Given the description of an element on the screen output the (x, y) to click on. 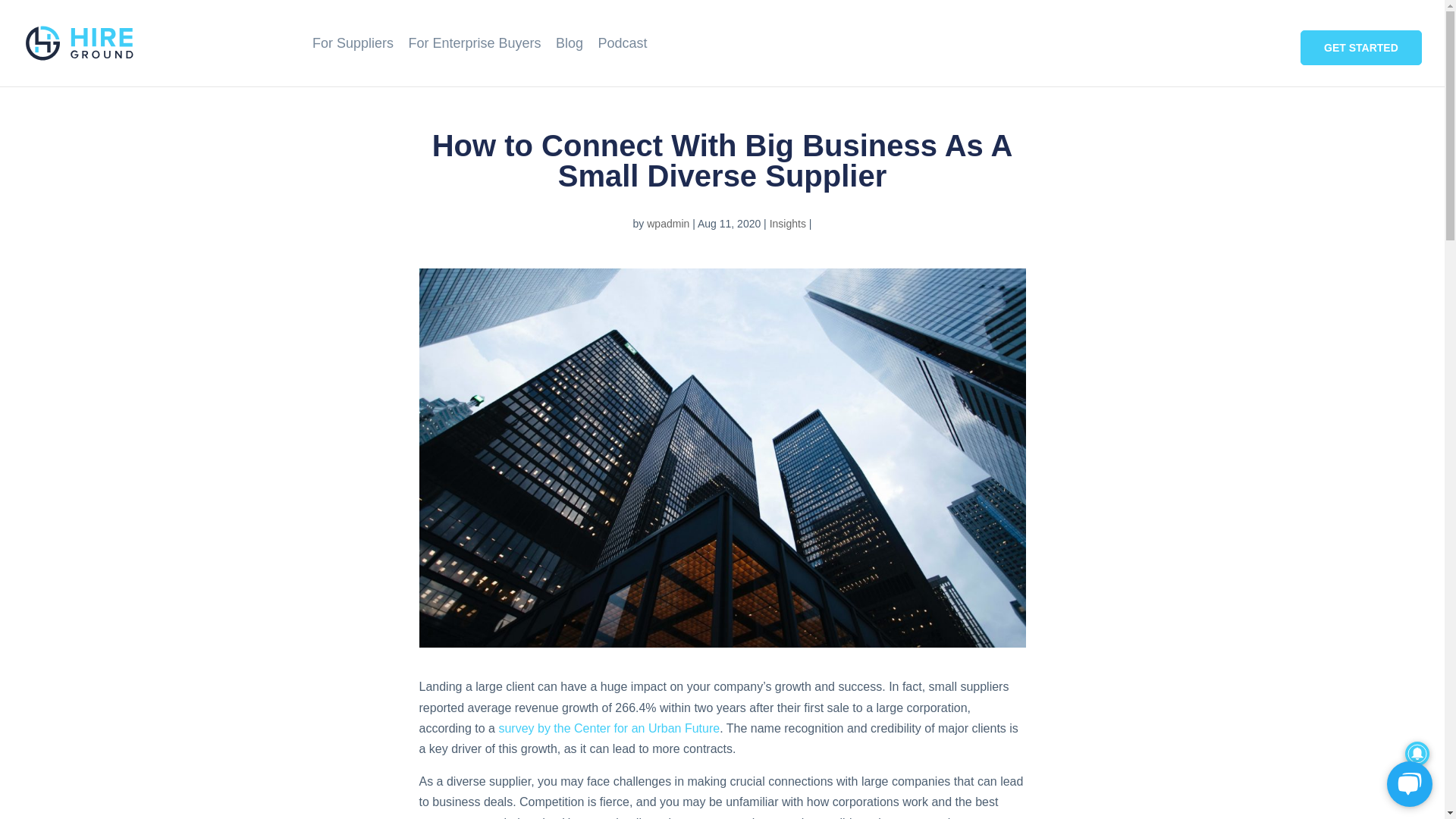
For Enterprise Buyers (473, 61)
survey by the Center for an Urban Future (608, 727)
GET STARTED (1364, 48)
Posts by wpadmin (667, 223)
Insights (788, 223)
Blog (569, 61)
wpadmin (667, 223)
For Suppliers (353, 61)
Podcast (621, 61)
